Given the description of an element on the screen output the (x, y) to click on. 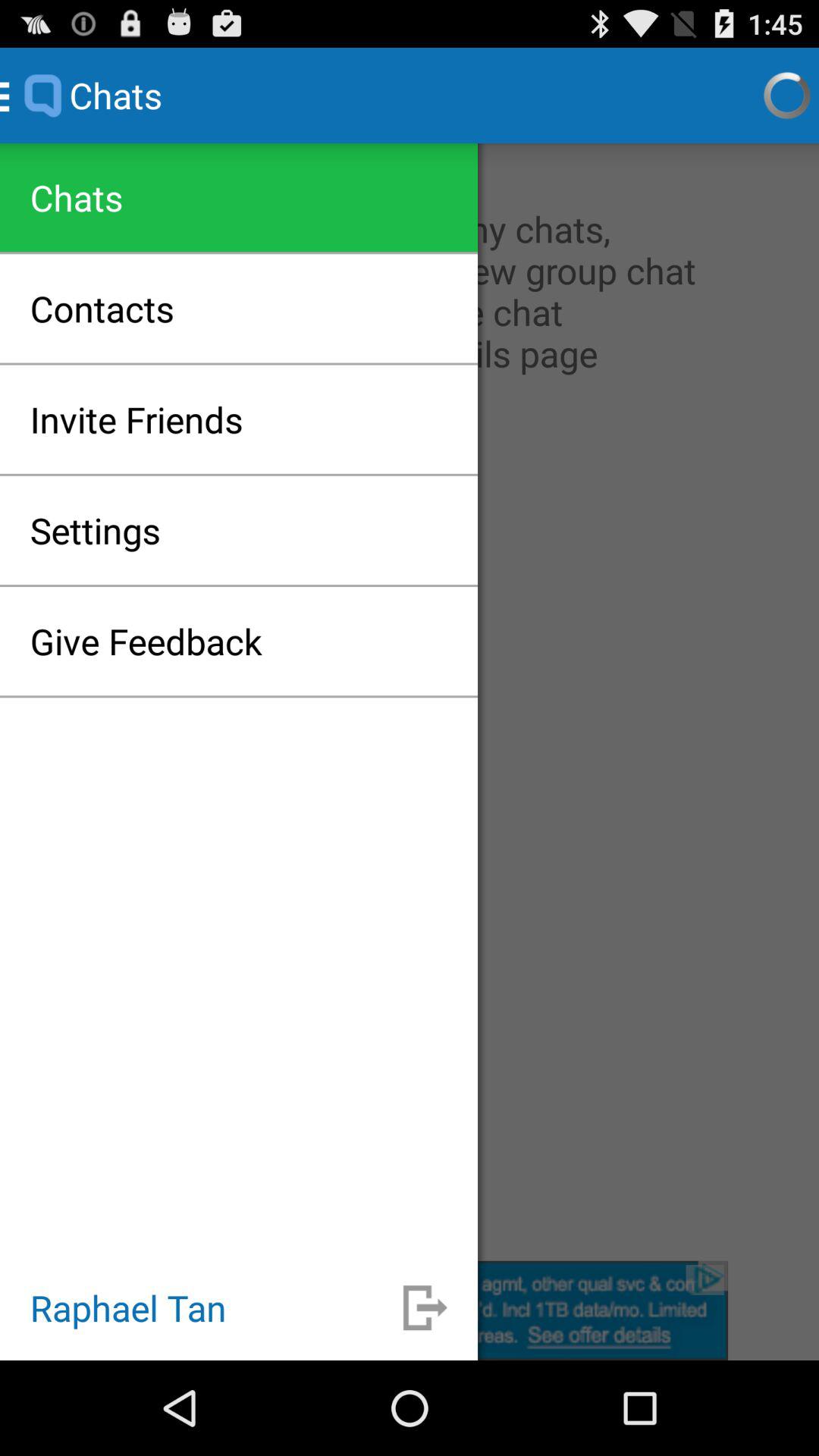
jump until settings icon (95, 530)
